Given the description of an element on the screen output the (x, y) to click on. 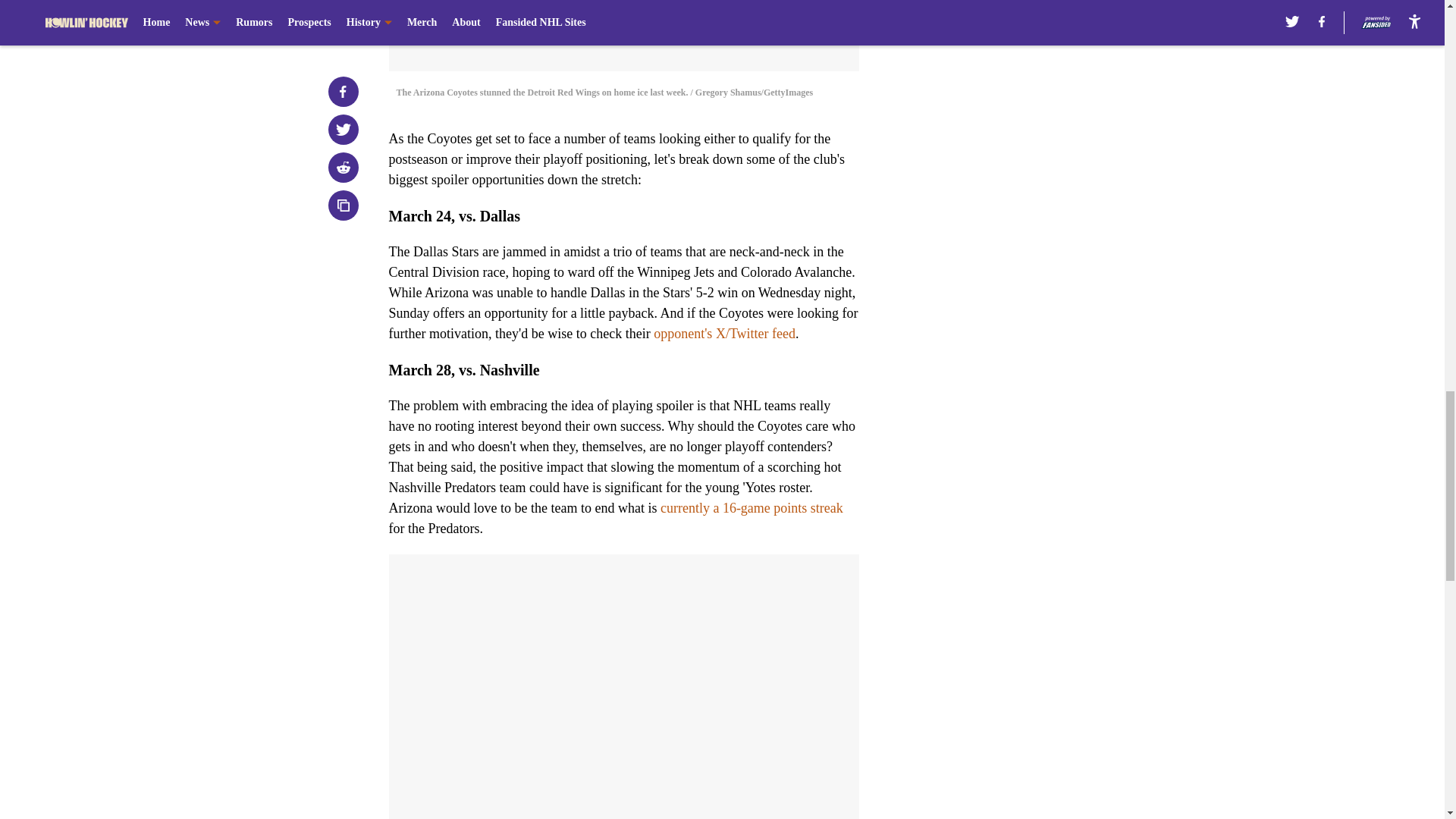
currently a 16-game points streak (752, 507)
